Given the description of an element on the screen output the (x, y) to click on. 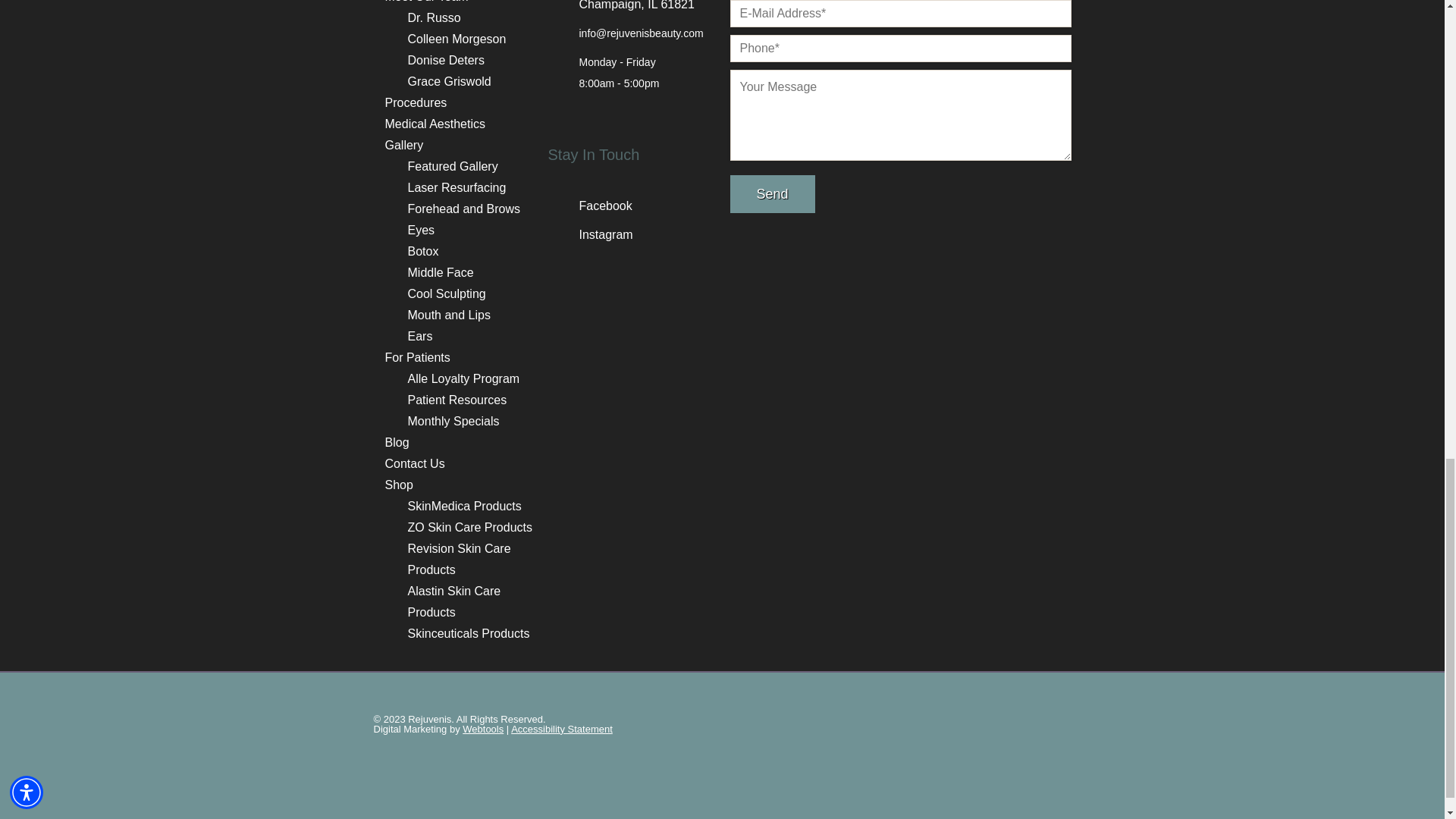
Send (771, 193)
